Given the description of an element on the screen output the (x, y) to click on. 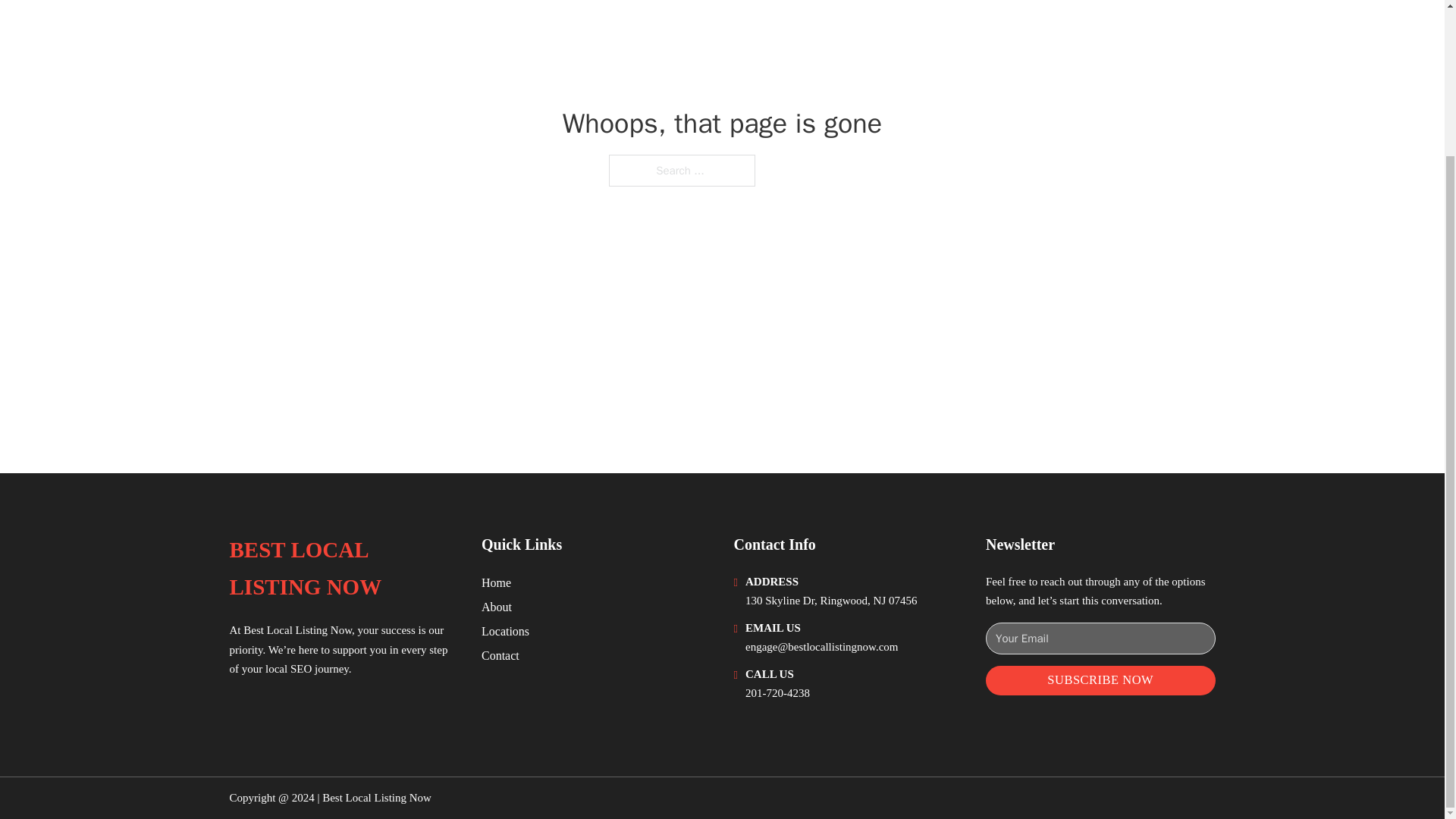
SUBSCRIBE NOW (1100, 680)
Contact (500, 655)
Locations (505, 630)
About (496, 607)
201-720-4238 (777, 693)
Home (496, 582)
BEST LOCAL LISTING NOW (343, 568)
